Given the description of an element on the screen output the (x, y) to click on. 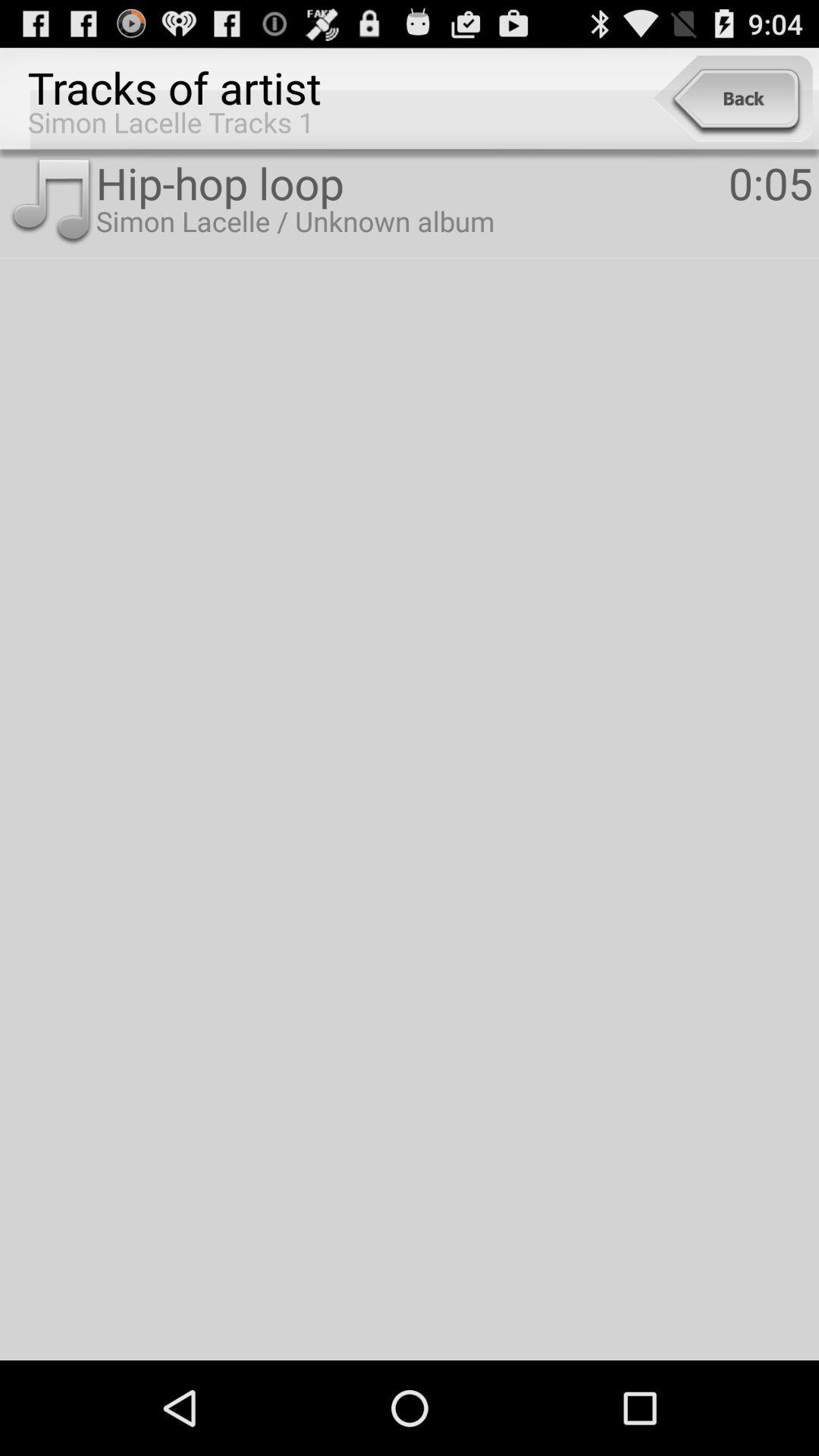
turn on icon to the left of the hip-hop loop item (51, 201)
